Given the description of an element on the screen output the (x, y) to click on. 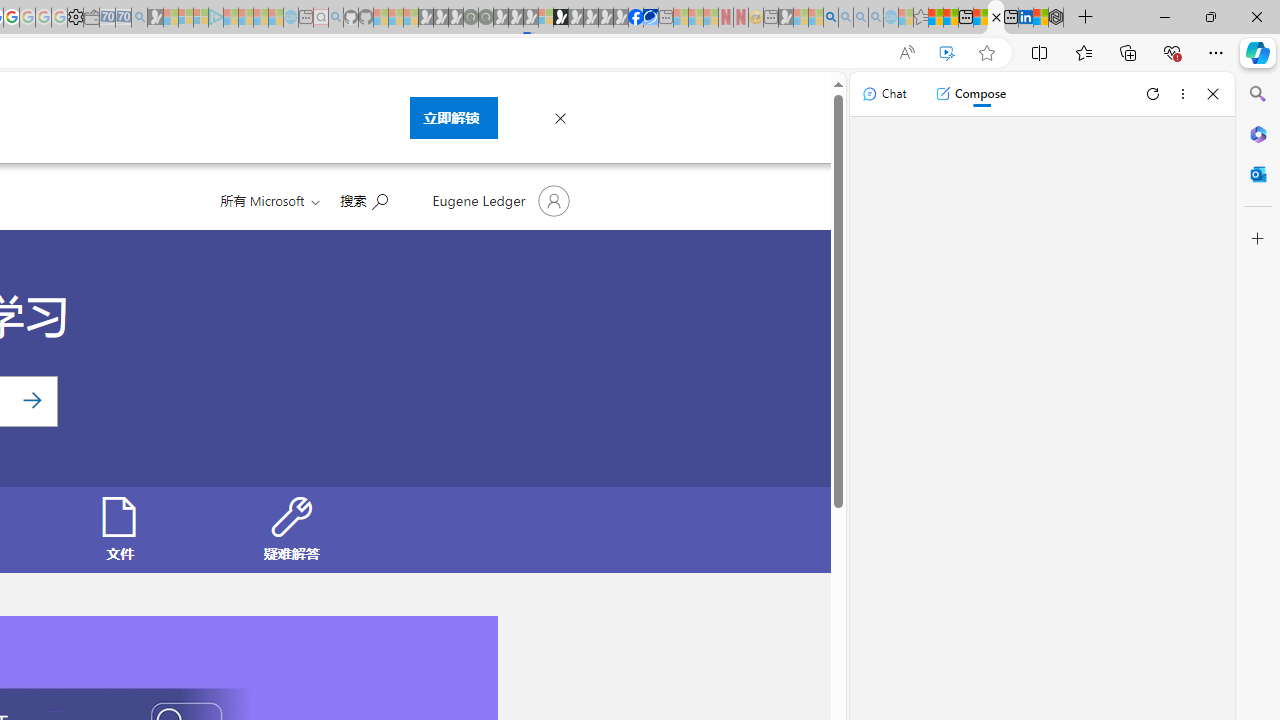
Microsoft Start Gaming - Sleeping (155, 17)
Restore (1210, 16)
New tab (1010, 17)
Settings and more (Alt+F) (1215, 52)
Favorites (1083, 52)
MSN - Sleeping (786, 17)
github - Search - Sleeping (336, 17)
